Given the description of an element on the screen output the (x, y) to click on. 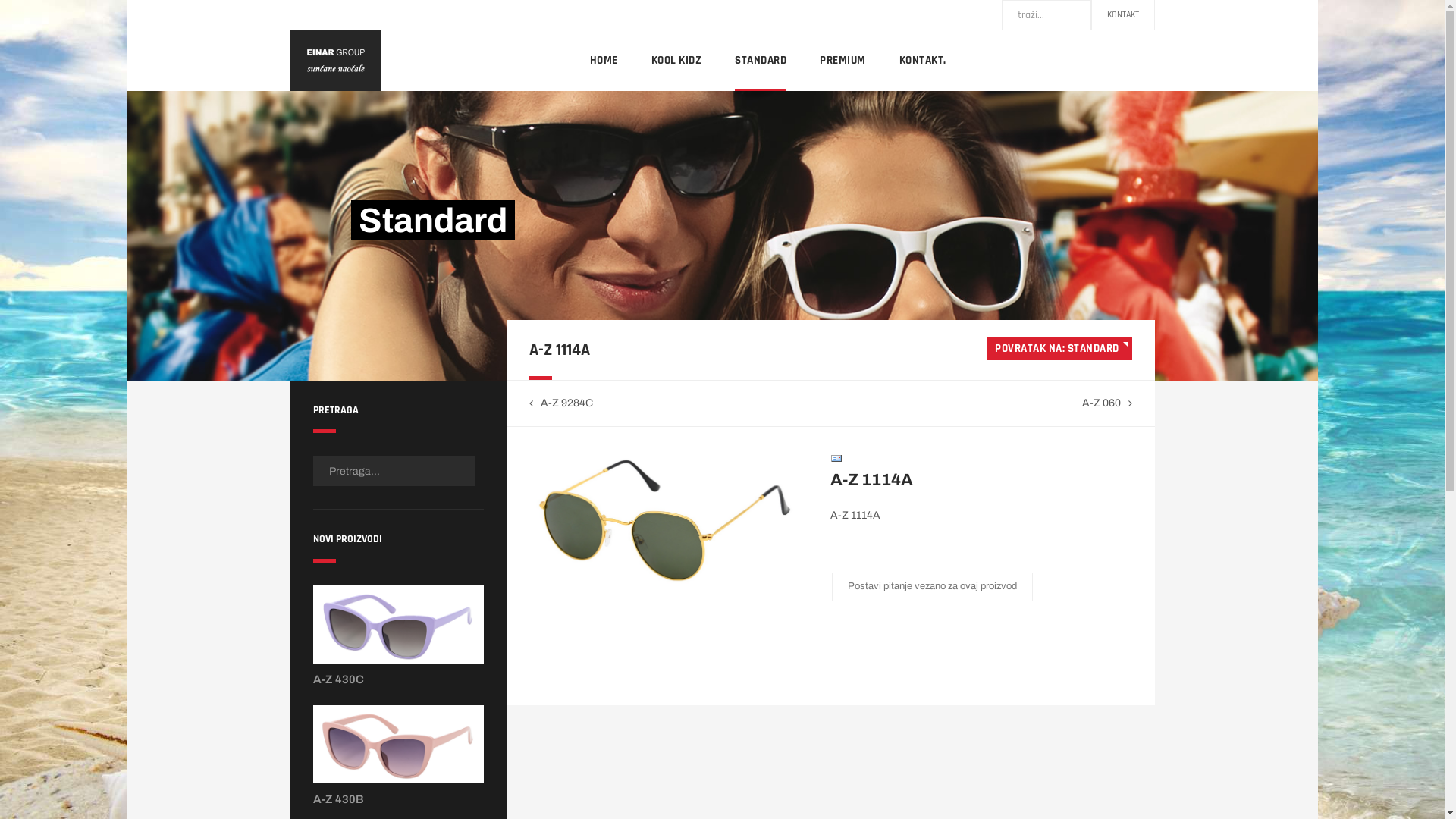
www.suncanenaocale.ba Element type: hover (334, 60)
PREMIUM Element type: text (842, 60)
A-Z 430C Element type: text (337, 679)
A-Z 430B Element type: text (337, 799)
KONTAKT Element type: text (1123, 15)
Postavi pitanje vezano za ovaj proizvod Element type: text (931, 586)
A-Z 060 Element type: text (1106, 403)
A-Z 430B Element type: hover (397, 747)
A-Z 9284C Element type: text (561, 403)
KONTAKT. Element type: text (922, 60)
POVRATAK NA: STANDARD Element type: text (1059, 348)
A-Z 430C Element type: hover (397, 628)
HOME Element type: text (603, 60)
No image set  Element type: hover (664, 519)
Email Element type: hover (836, 458)
KOOL KIDZ Element type: text (675, 60)
STANDARD Element type: text (760, 60)
